Given the description of an element on the screen output the (x, y) to click on. 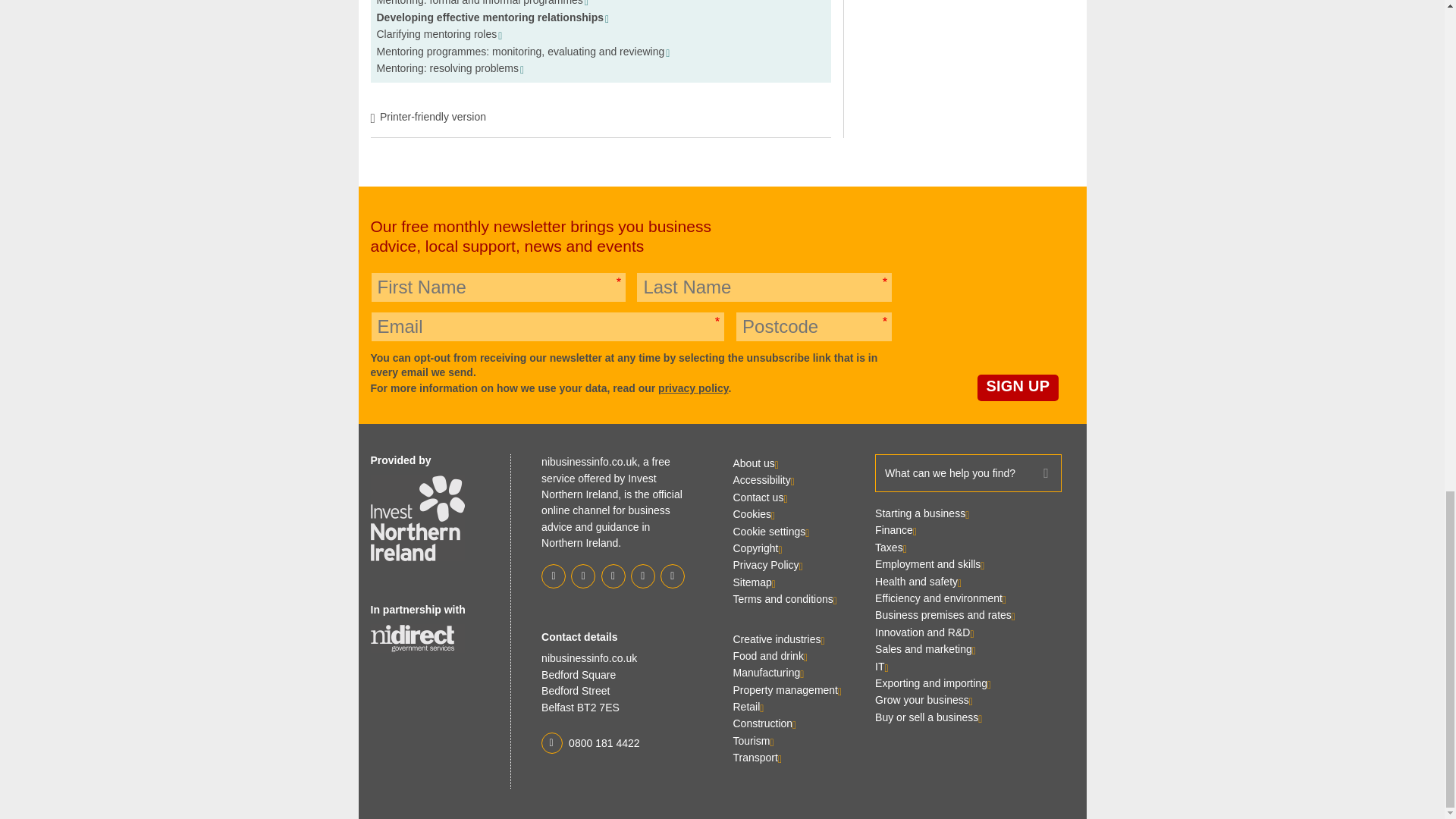
Sign up (1017, 387)
Facebook (582, 576)
YouTube (672, 576)
Open the cookie consent dialog. (770, 531)
Instagram (642, 576)
LinkedIn (611, 576)
Search (1045, 473)
X (553, 576)
